Given the description of an element on the screen output the (x, y) to click on. 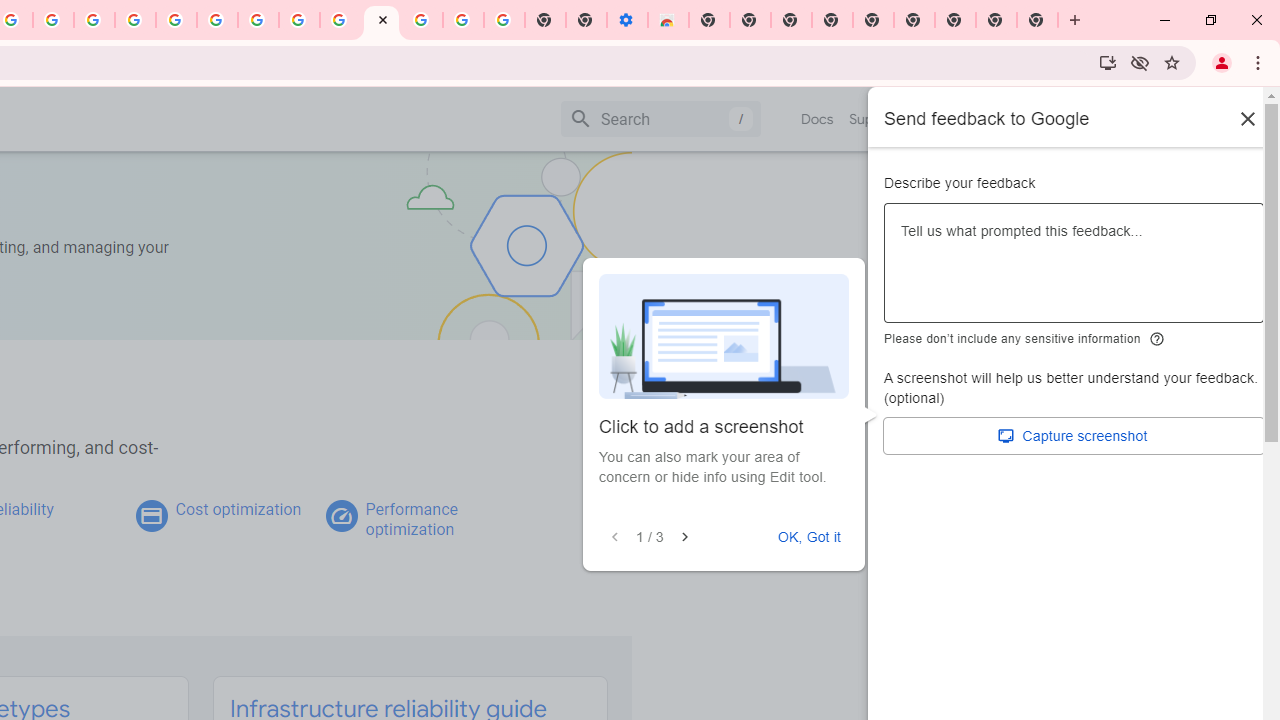
Performance optimization (411, 519)
Google Account Help (462, 20)
Chrome Web Store - Accessibility extensions (667, 20)
Ad Settings (135, 20)
Describe your feedback (1074, 271)
Install Google Cloud (1107, 62)
Sign in - Google Accounts (421, 20)
Sign in - Google Accounts (176, 20)
